Given the description of an element on the screen output the (x, y) to click on. 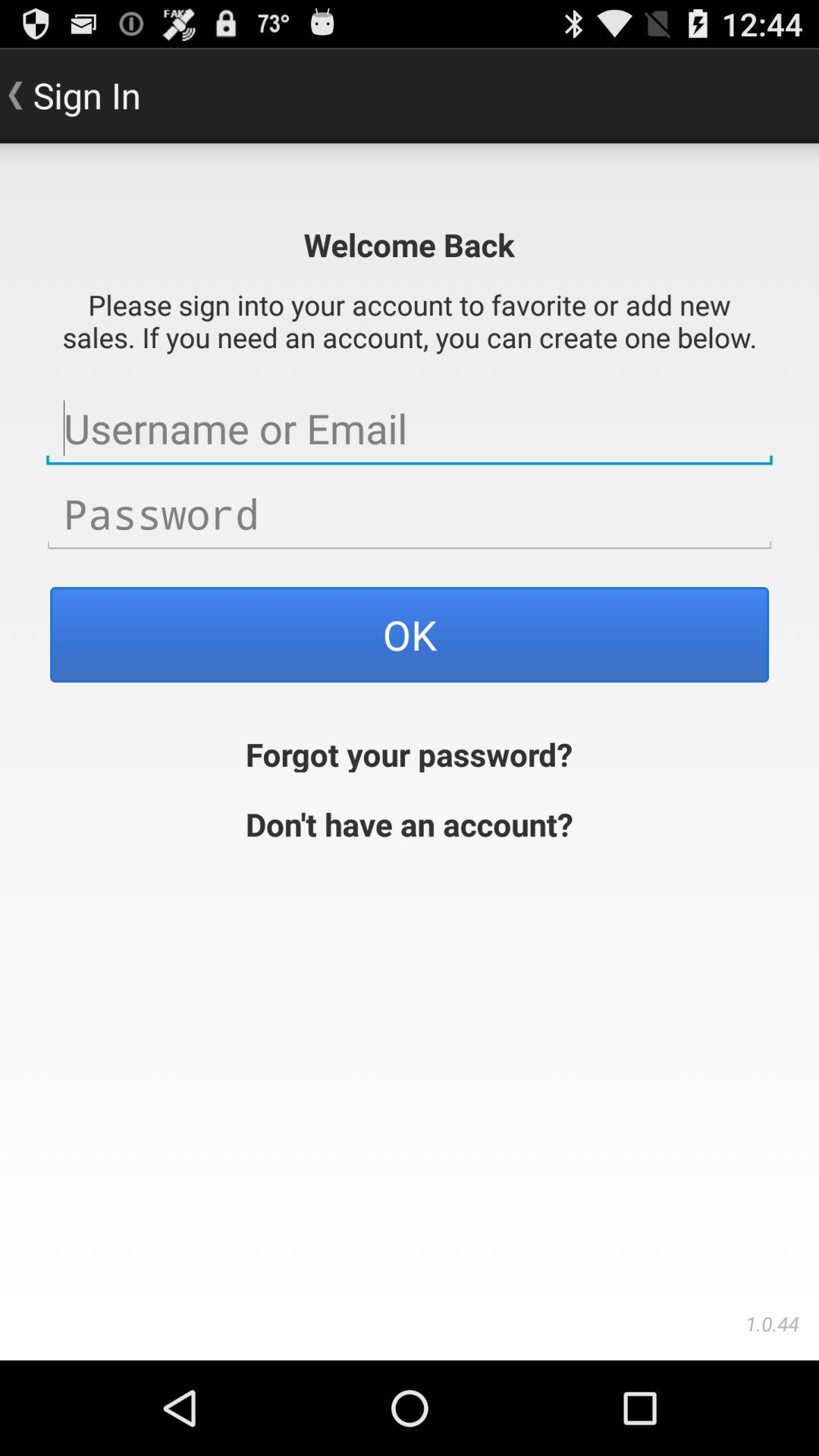
enter username or email (409, 428)
